Given the description of an element on the screen output the (x, y) to click on. 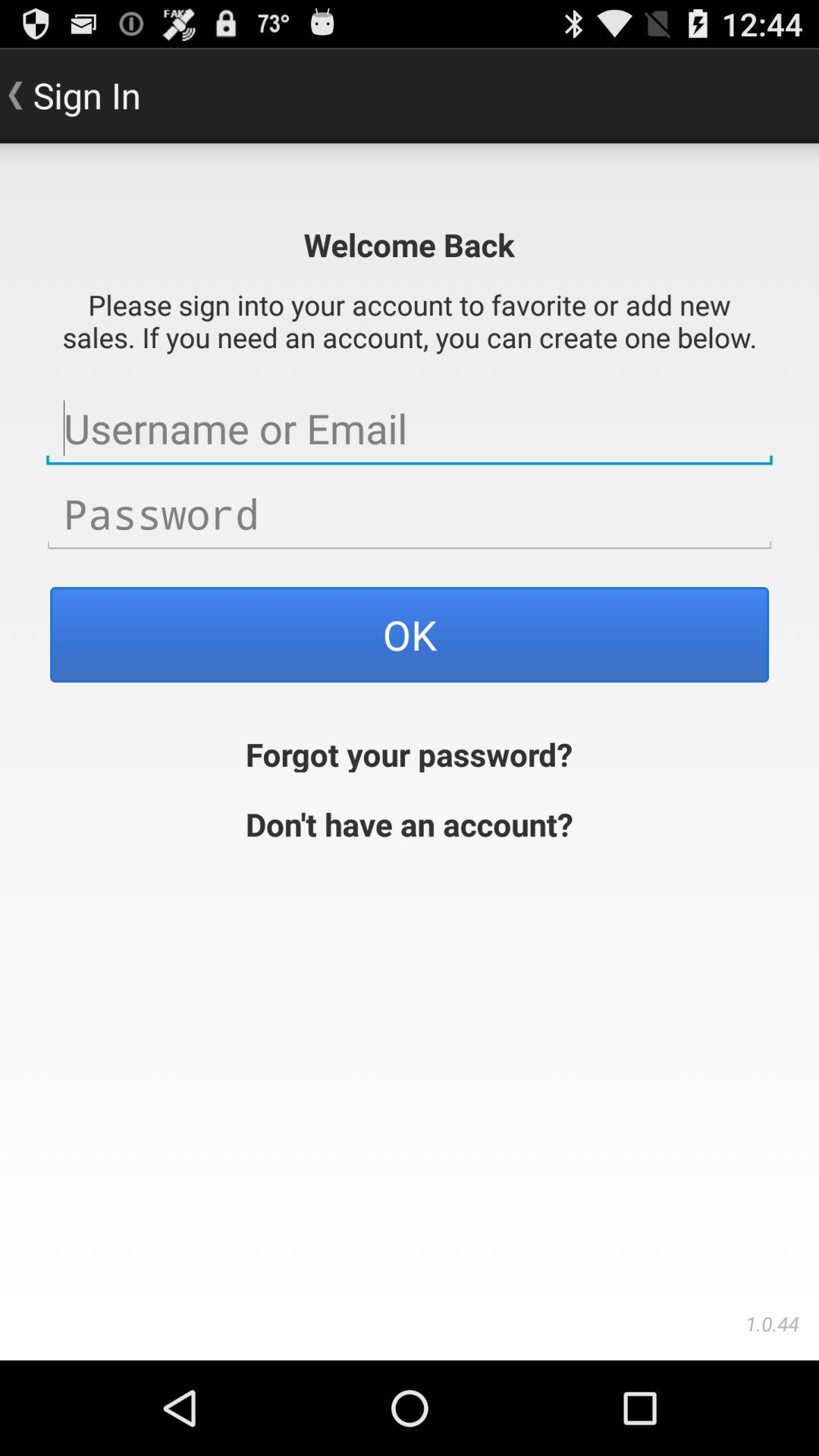
enter username or email (409, 428)
